Given the description of an element on the screen output the (x, y) to click on. 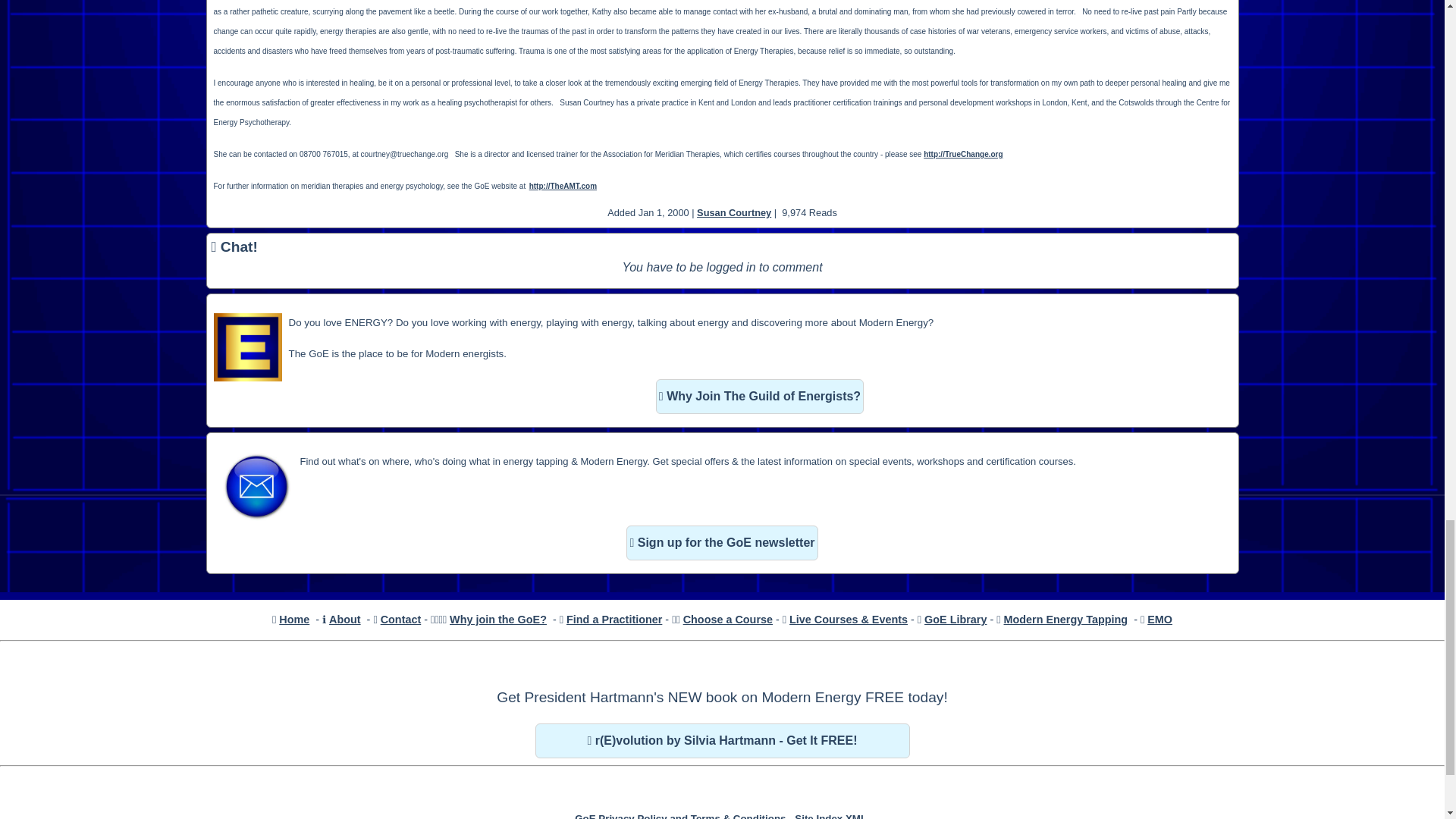
Contact GoE Head Office (401, 619)
E is for ENERGY! (248, 346)
GoE Energy Course Catalogue (727, 619)
Find a practitioner on our online map (614, 619)
Back to GoE Home (293, 619)
GoE Newsletter (721, 542)
GoE Newsletter (256, 486)
About The Guild of Energists (345, 619)
Why join the GoE? (498, 619)
